Given the description of an element on the screen output the (x, y) to click on. 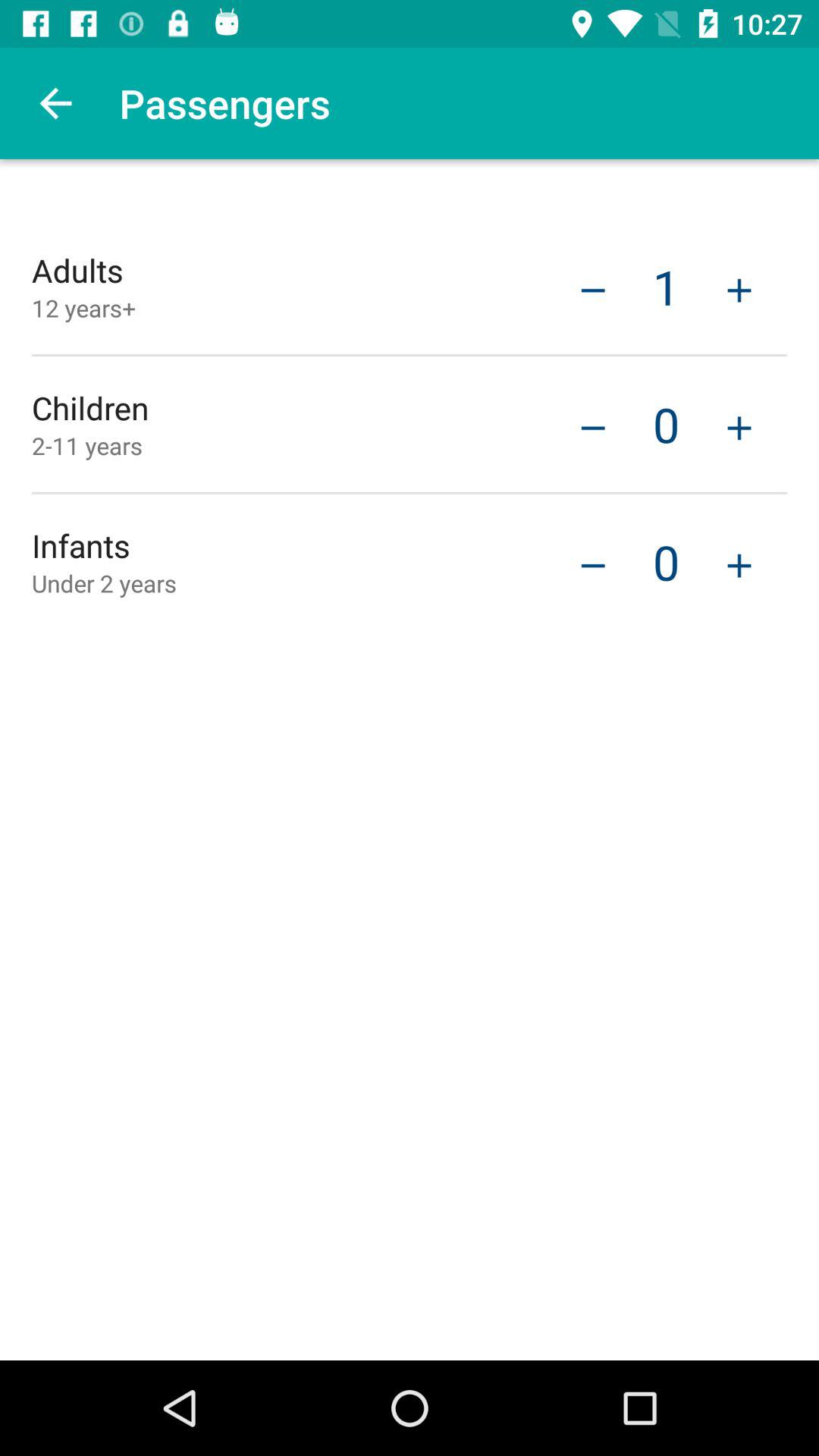
add child passenger (739, 426)
